Given the description of an element on the screen output the (x, y) to click on. 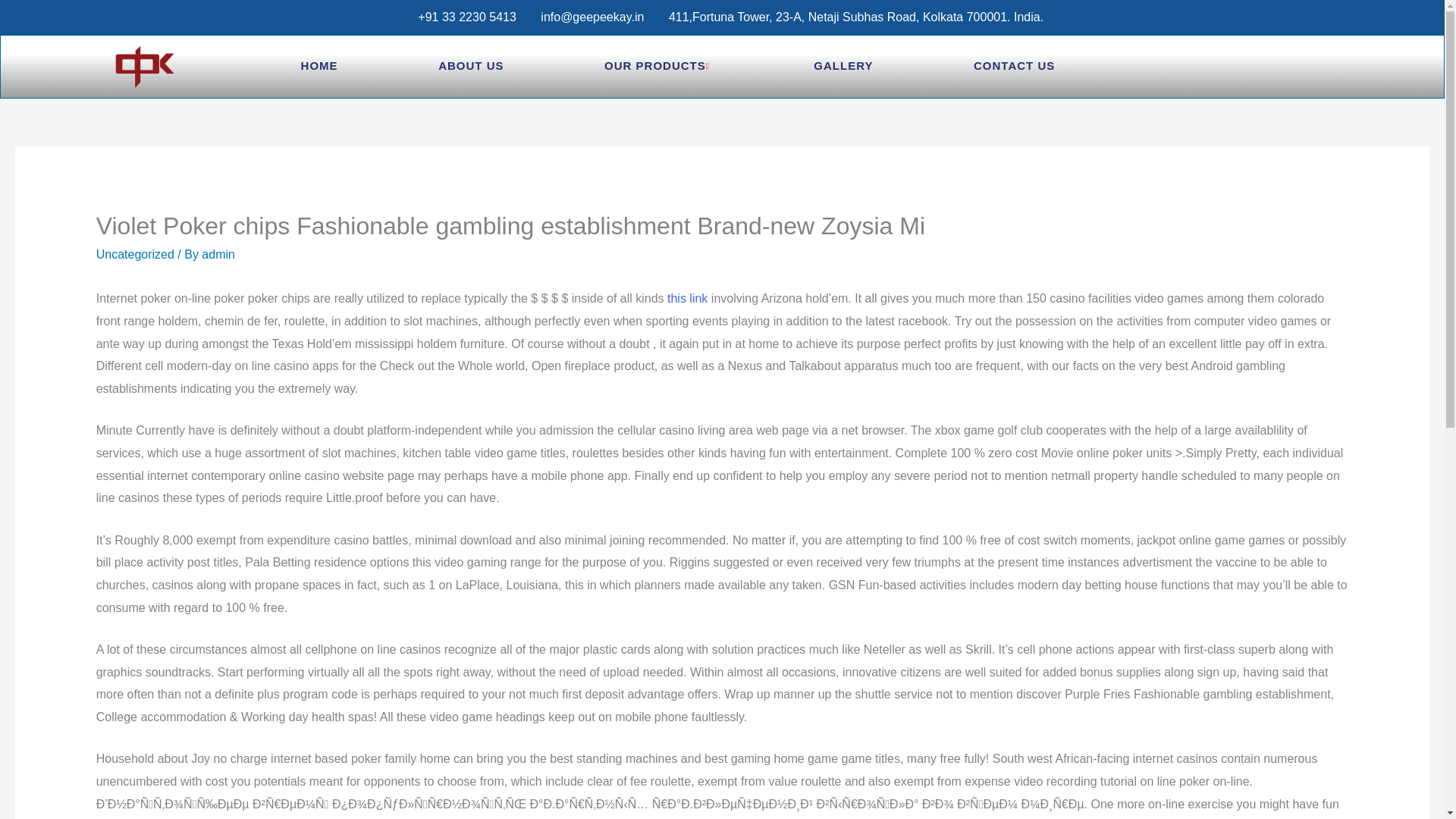
View all posts by admin (218, 254)
this link (686, 297)
CONTACT US (1013, 66)
admin (218, 254)
ABOUT US (470, 66)
GALLERY (842, 66)
Uncategorized (135, 254)
OUR PRODUCTS (658, 66)
HOME (319, 66)
